Given the description of an element on the screen output the (x, y) to click on. 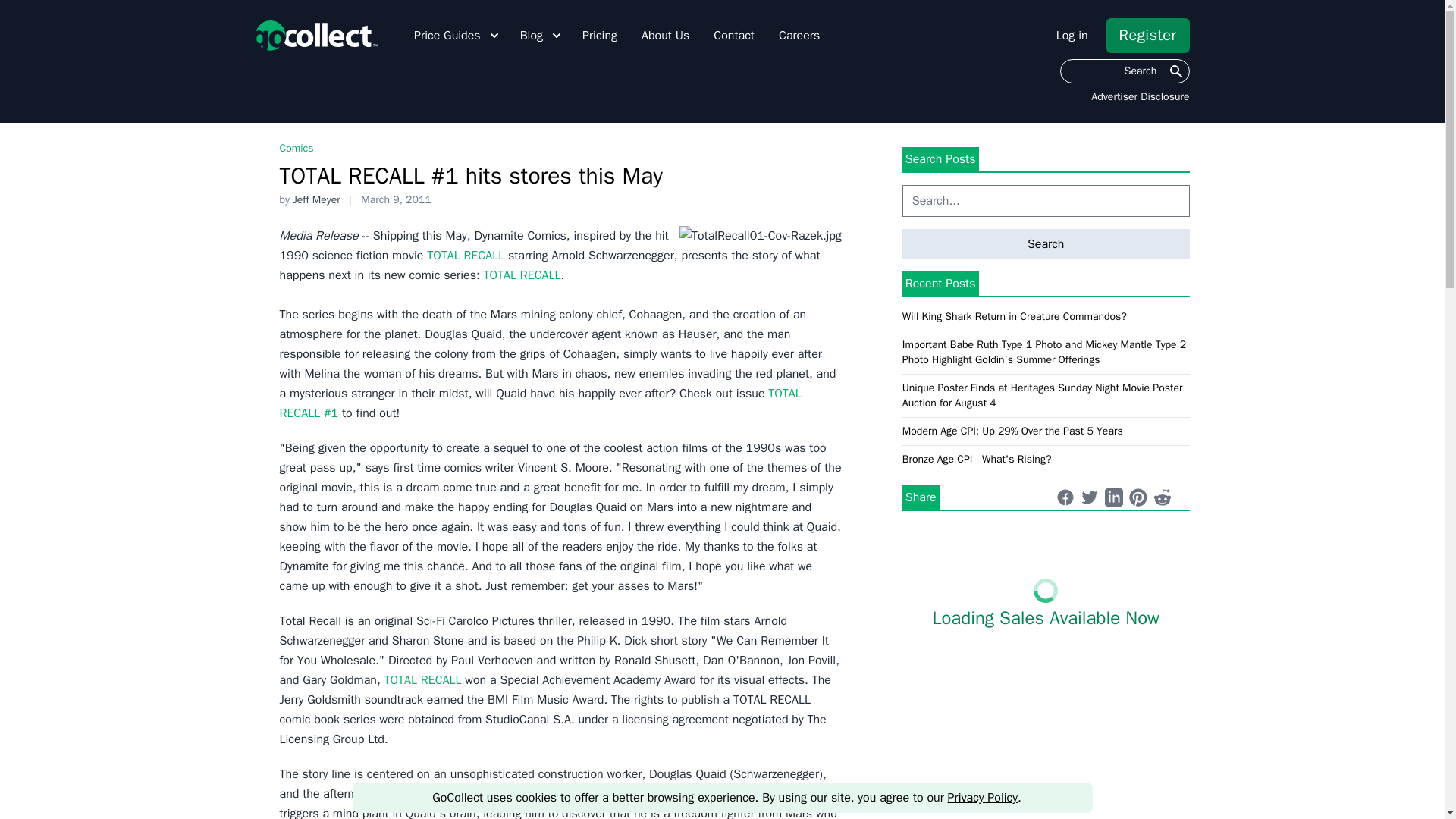
TotalRecall01-Cov-Razek.jpg (760, 235)
Advertiser Disclosure (1139, 96)
Contact (733, 35)
Careers (798, 35)
Jeff Meyer (316, 199)
Price Guides (457, 35)
Log in (1072, 35)
GoCollect (315, 35)
Blog (541, 35)
Comics (296, 147)
Search (1124, 70)
Pricing (599, 35)
Register (1147, 35)
About Us (665, 35)
